Given the description of an element on the screen output the (x, y) to click on. 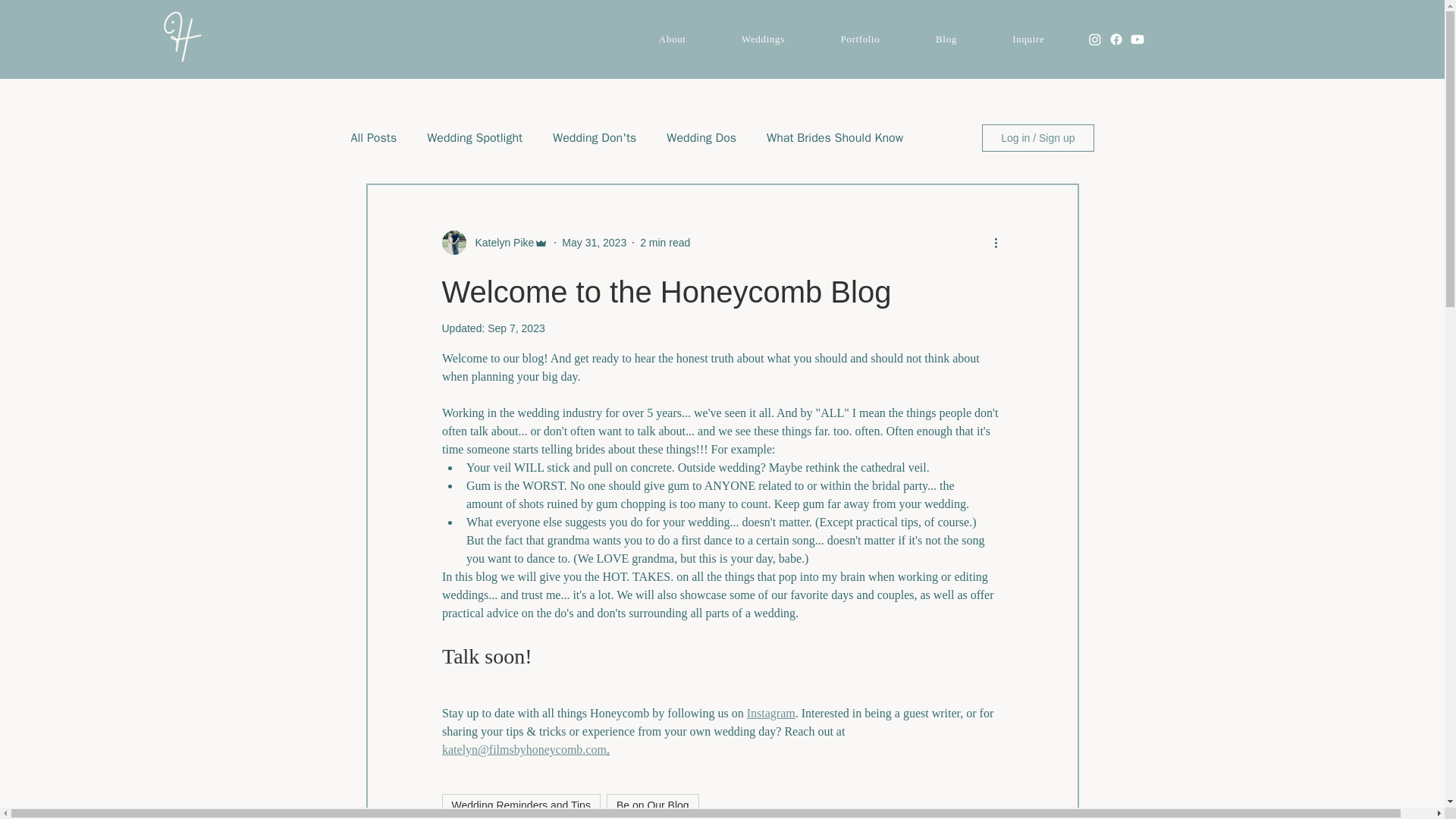
Be on Our Blog (652, 804)
Instagram (769, 712)
Portfolio (860, 39)
Wedding Spotlight (474, 138)
Wedding Don'ts (594, 138)
Inquire (1029, 39)
May 31, 2023 (594, 242)
Wedding Dos (701, 138)
All Posts (373, 138)
Sep 7, 2023 (515, 328)
2 min read (665, 242)
Weddings (762, 39)
What Brides Should Know (834, 138)
Blog (946, 39)
Wedding Reminders and Tips (520, 804)
